Given the description of an element on the screen output the (x, y) to click on. 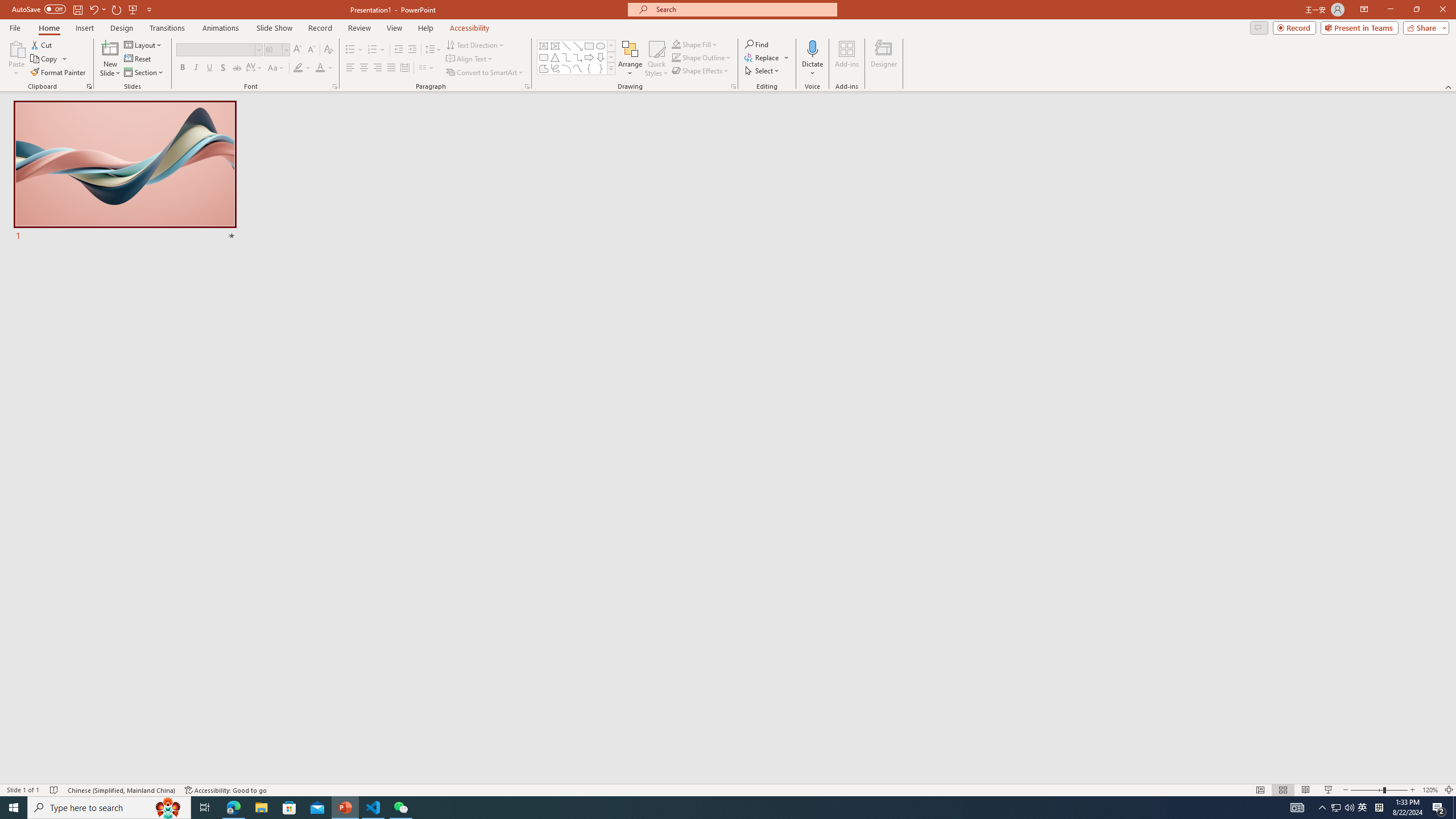
Zoom 120% (1430, 790)
